Given the description of an element on the screen output the (x, y) to click on. 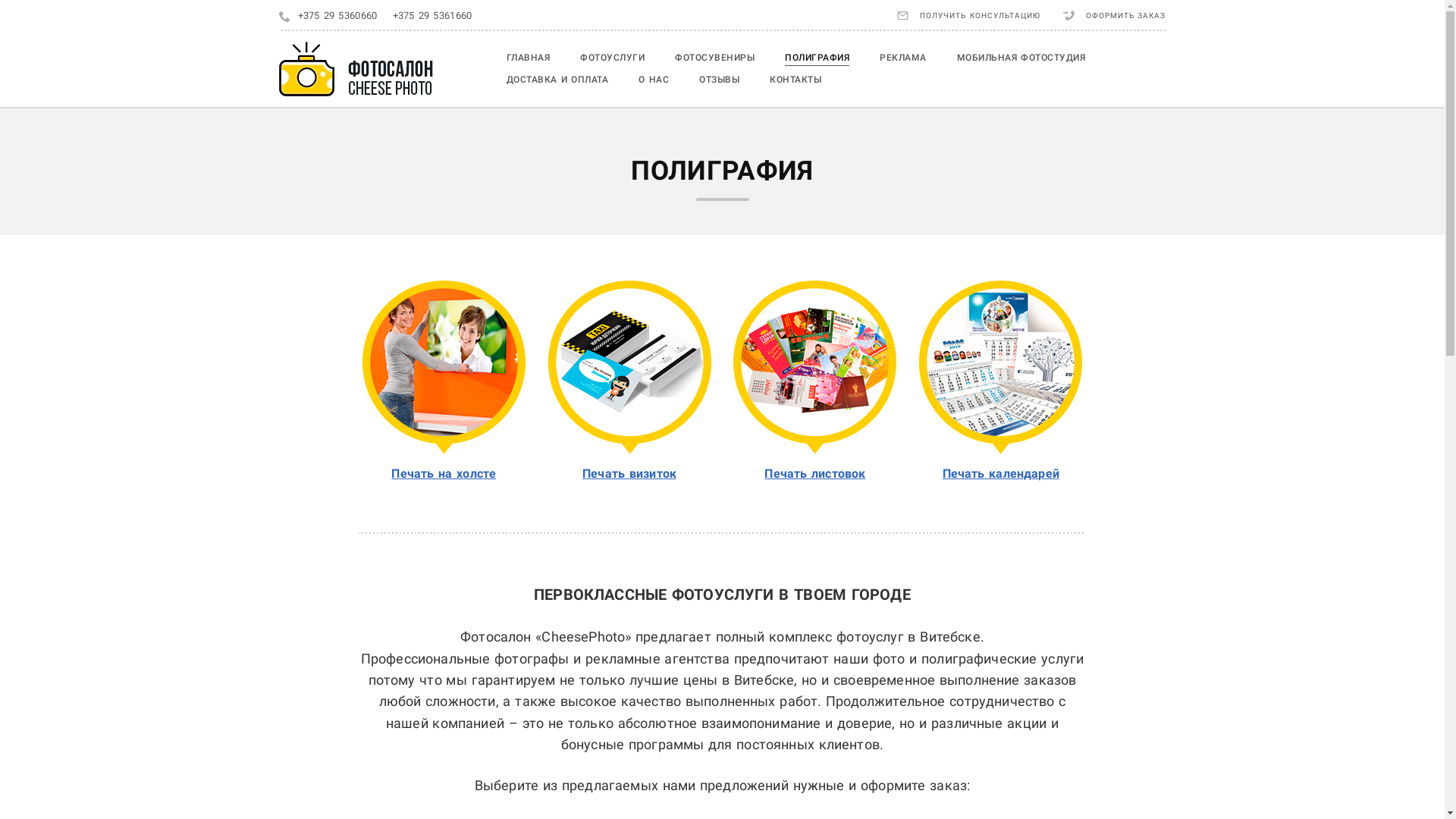
+375 29 5361660 Element type: text (432, 15)
+375 29 5360660 Element type: text (336, 15)
